Given the description of an element on the screen output the (x, y) to click on. 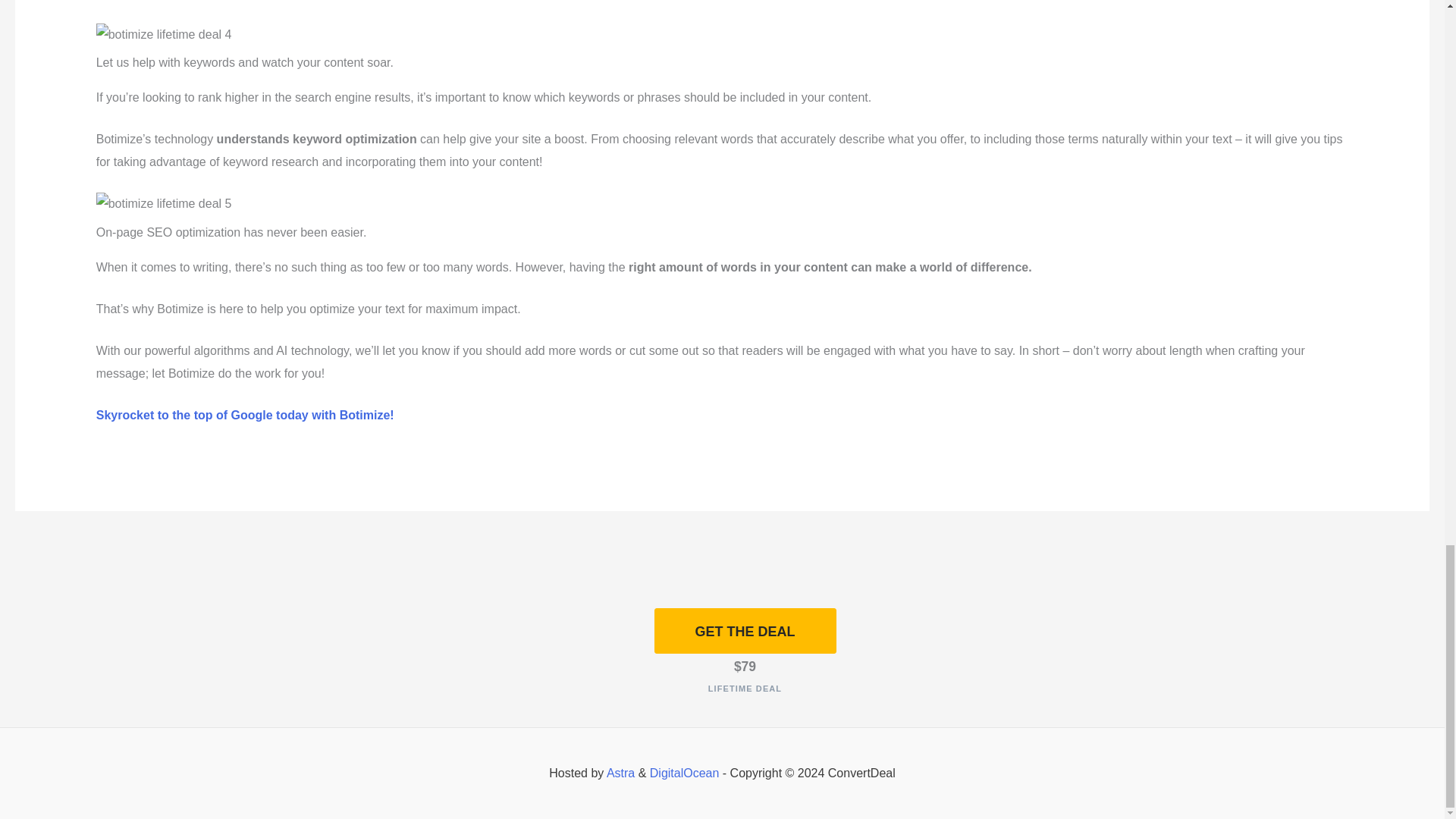
GET THE DEAL (744, 630)
DigitalOcean (684, 772)
GET THE DEAL (744, 631)
Astra (620, 772)
Skyrocket to the top of Google today with Botimize! (245, 414)
